Given the description of an element on the screen output the (x, y) to click on. 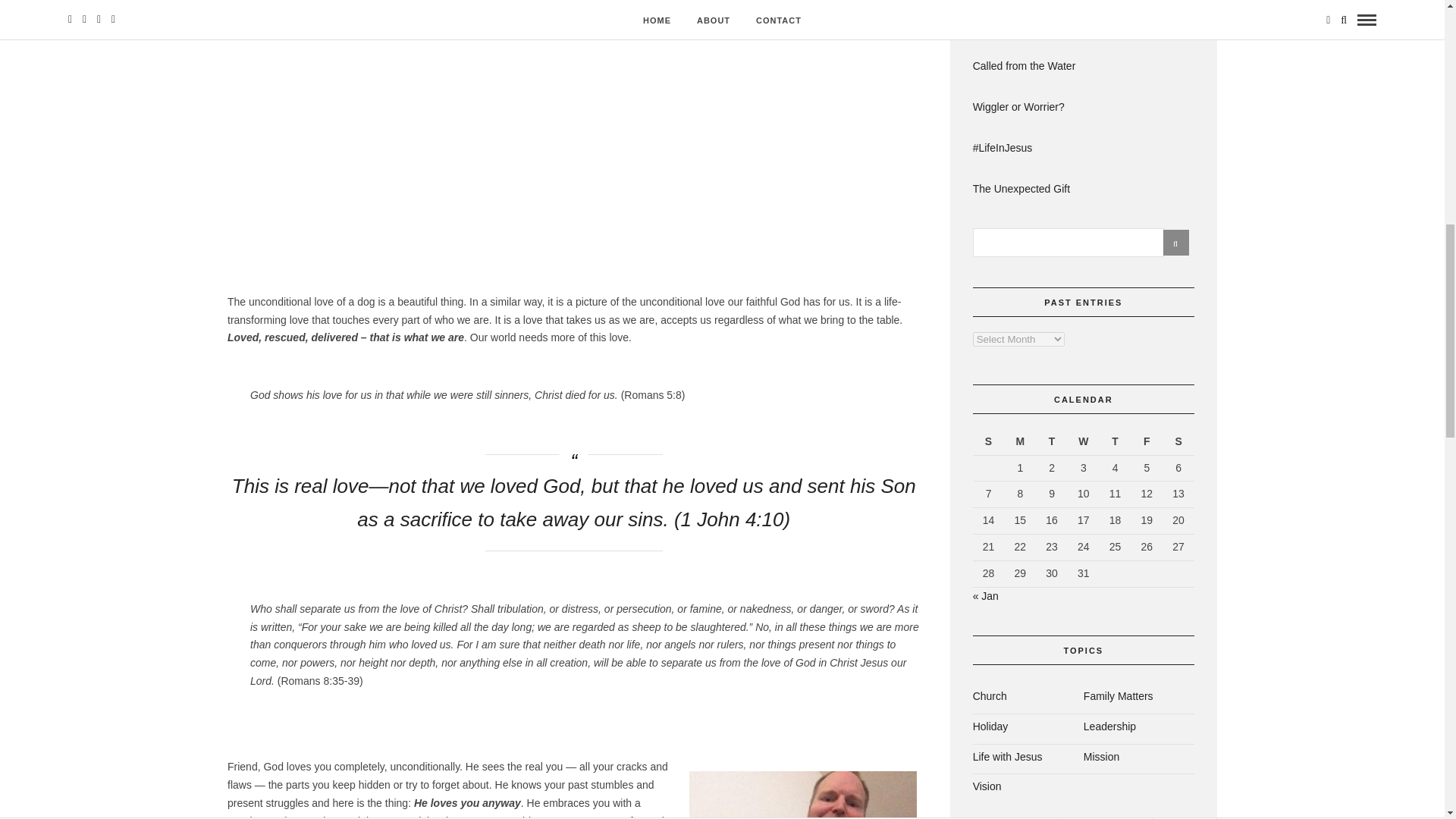
Thursday (1115, 442)
Sunday (988, 442)
Monday (1019, 442)
Tuesday (1051, 442)
Wednesday (1083, 442)
Called from the Water (1082, 66)
